Given the description of an element on the screen output the (x, y) to click on. 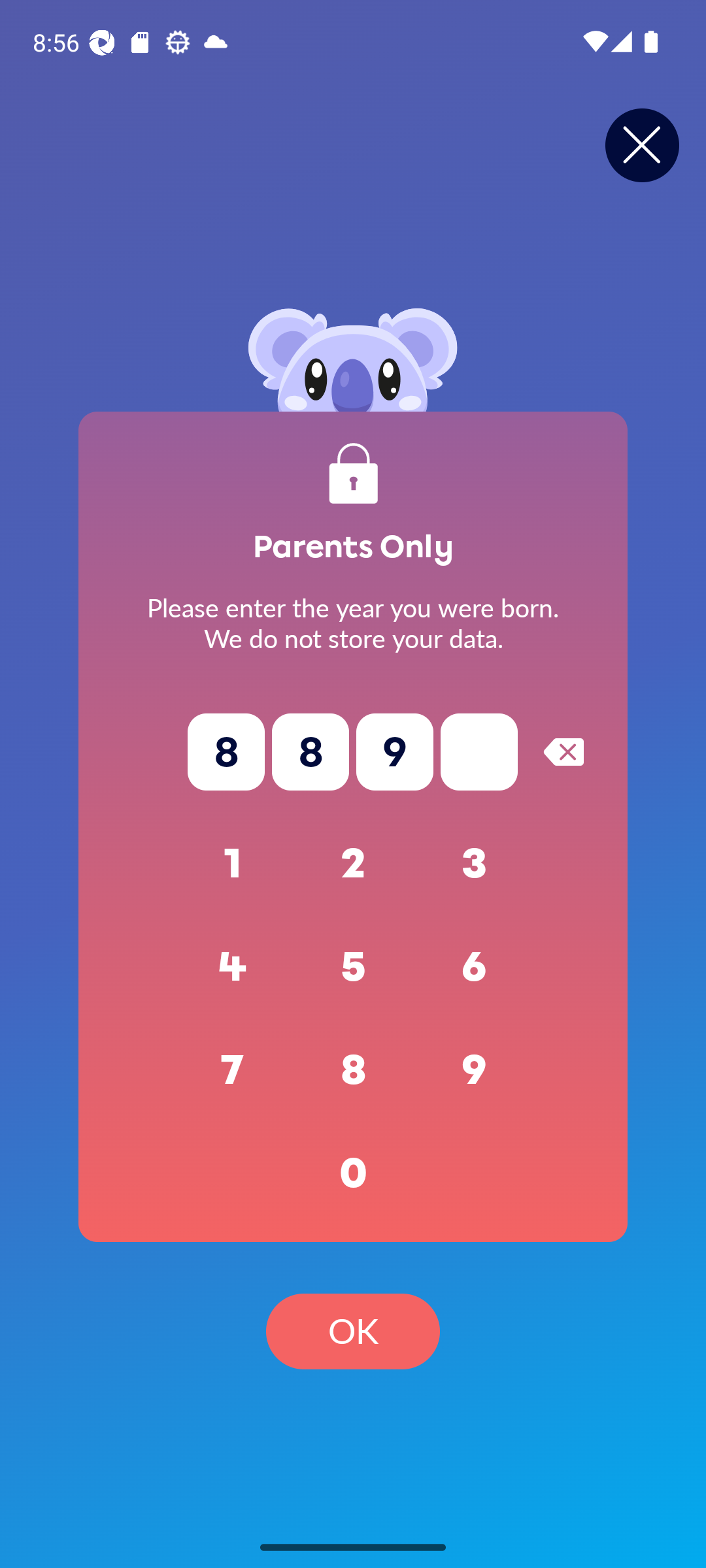
Delete (563, 751)
1 (232, 863)
2 (353, 863)
3 (474, 863)
4 (232, 966)
5 (353, 966)
6 (474, 966)
7 (232, 1069)
8 (353, 1069)
9 (474, 1069)
0 (353, 1173)
OK (352, 1331)
